Given the description of an element on the screen output the (x, y) to click on. 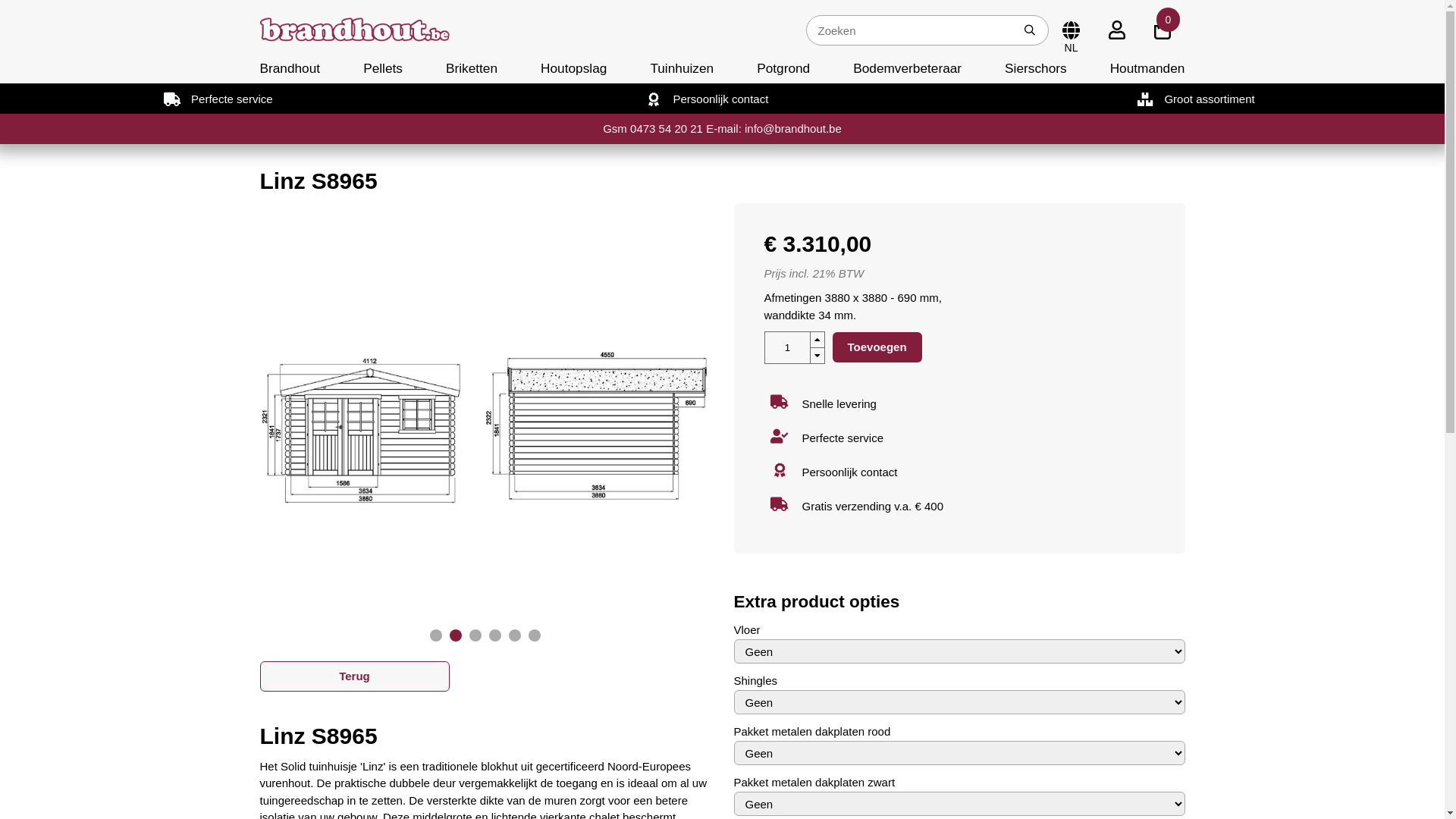
Houtmanden Element type: text (1141, 68)
Potgrond Element type: text (783, 68)
Bodemverbeteraar Element type: text (906, 68)
Sierschors Element type: text (1035, 68)
0 Element type: text (1161, 30)
Mijn account Element type: hover (1116, 30)
Pellets Element type: text (382, 68)
Terug Element type: text (353, 676)
Tuinhuizen Element type: text (681, 68)
Brandhout Element type: text (295, 68)
Briketten Element type: text (471, 68)
Toevoegen Element type: text (877, 347)
Houtopslag Element type: text (573, 68)
Taal en valuta voorkeuren Element type: hover (1070, 30)
